Given the description of an element on the screen output the (x, y) to click on. 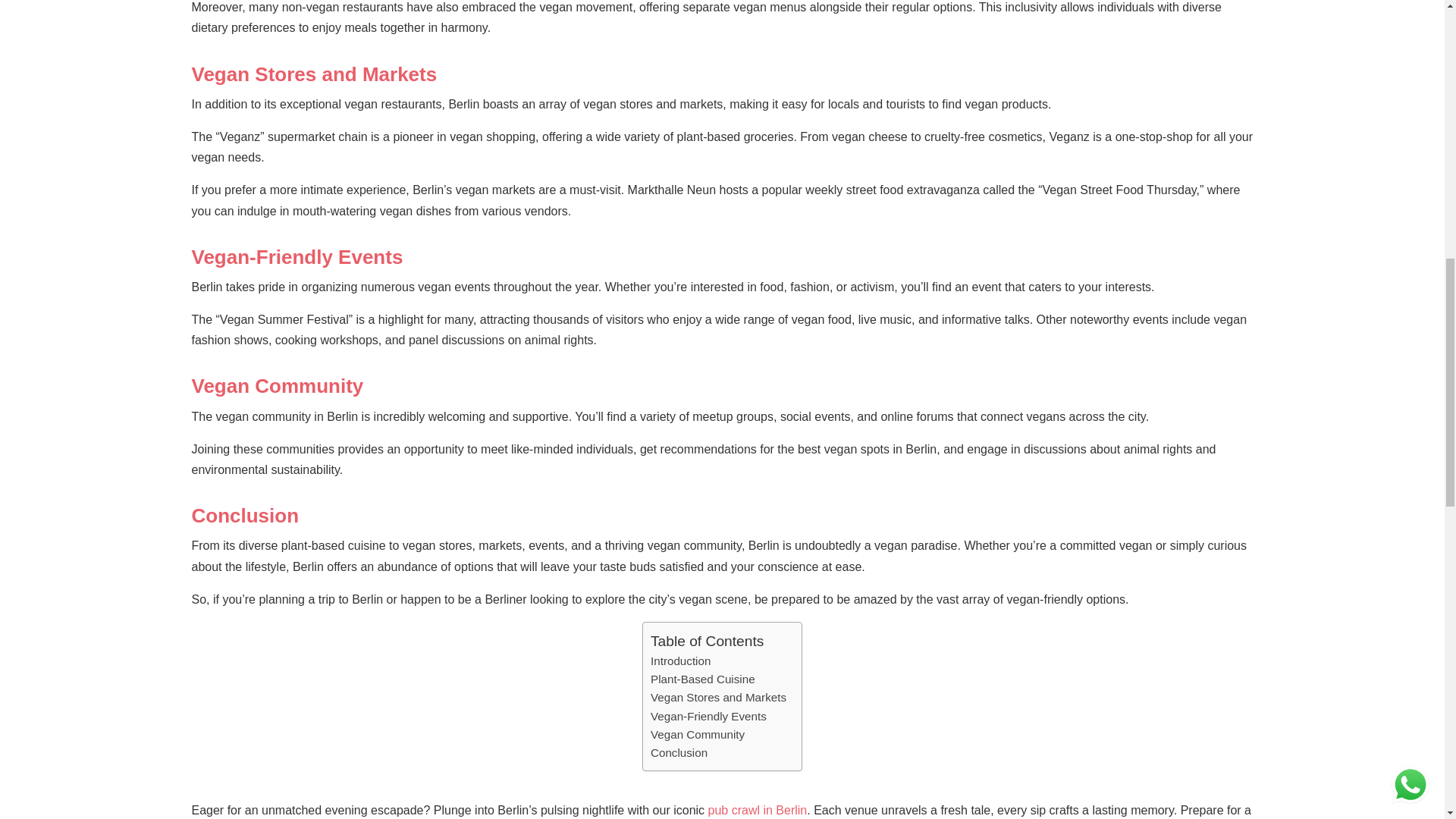
Vegan Community (697, 734)
Vegan Community (697, 734)
Vegan-Friendly Events (708, 716)
Introduction (680, 660)
pub crawl in Berlin (757, 809)
Plant-Based Cuisine (702, 679)
Conclusion (678, 752)
Vegan-Friendly Events (708, 716)
Conclusion (678, 752)
Plant-Based Cuisine (702, 679)
Vegan Stores and Markets (718, 697)
Introduction (680, 660)
Vegan Stores and Markets (718, 697)
